Given the description of an element on the screen output the (x, y) to click on. 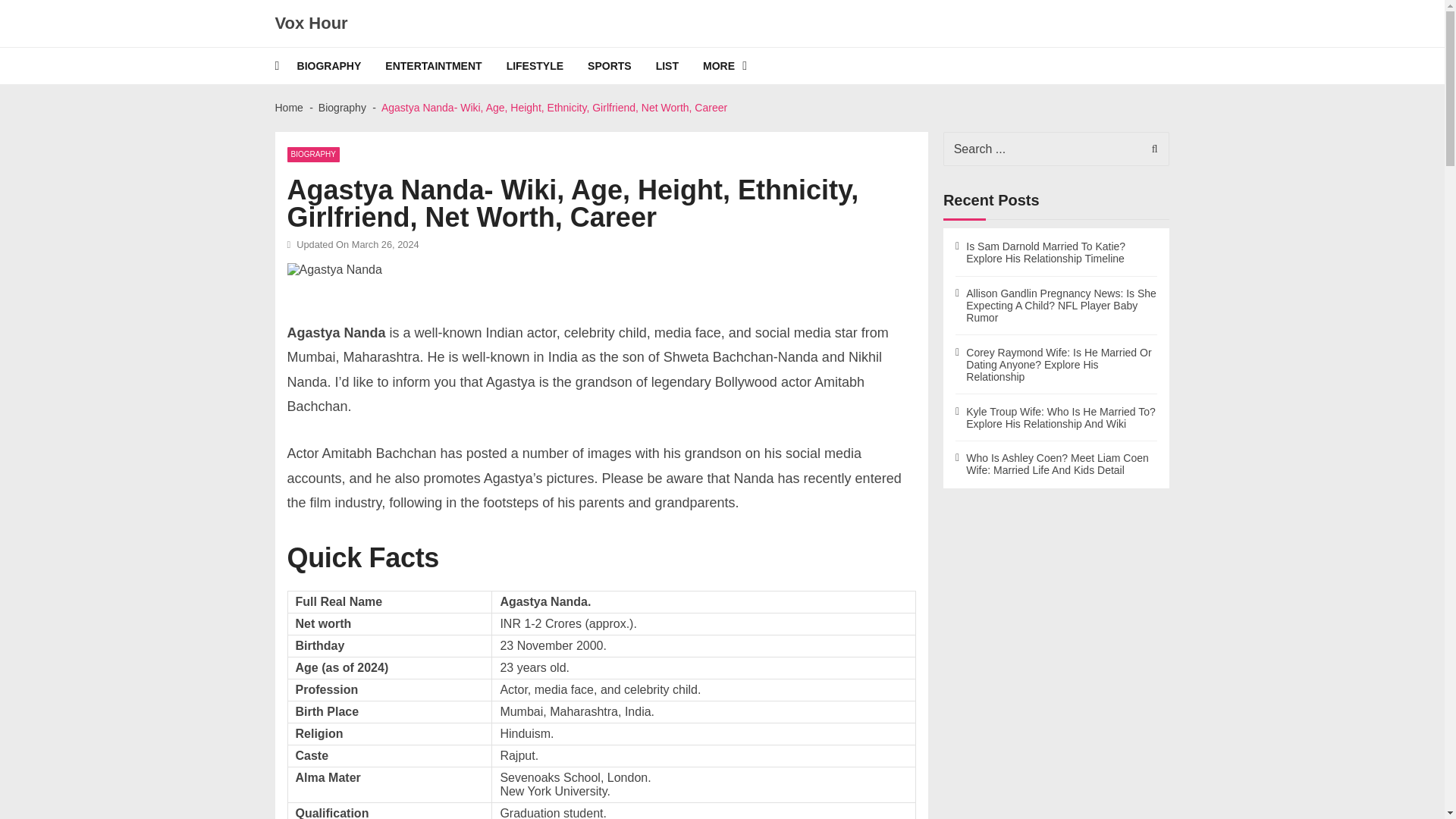
SPORTS (622, 65)
BIOGRAPHY (341, 65)
ENTERTAINTMENT (445, 65)
LIFESTYLE (547, 65)
LIST (679, 65)
Biography (342, 107)
BIOGRAPHY (312, 154)
Search (1150, 148)
MORE (737, 65)
Home (288, 107)
